Given the description of an element on the screen output the (x, y) to click on. 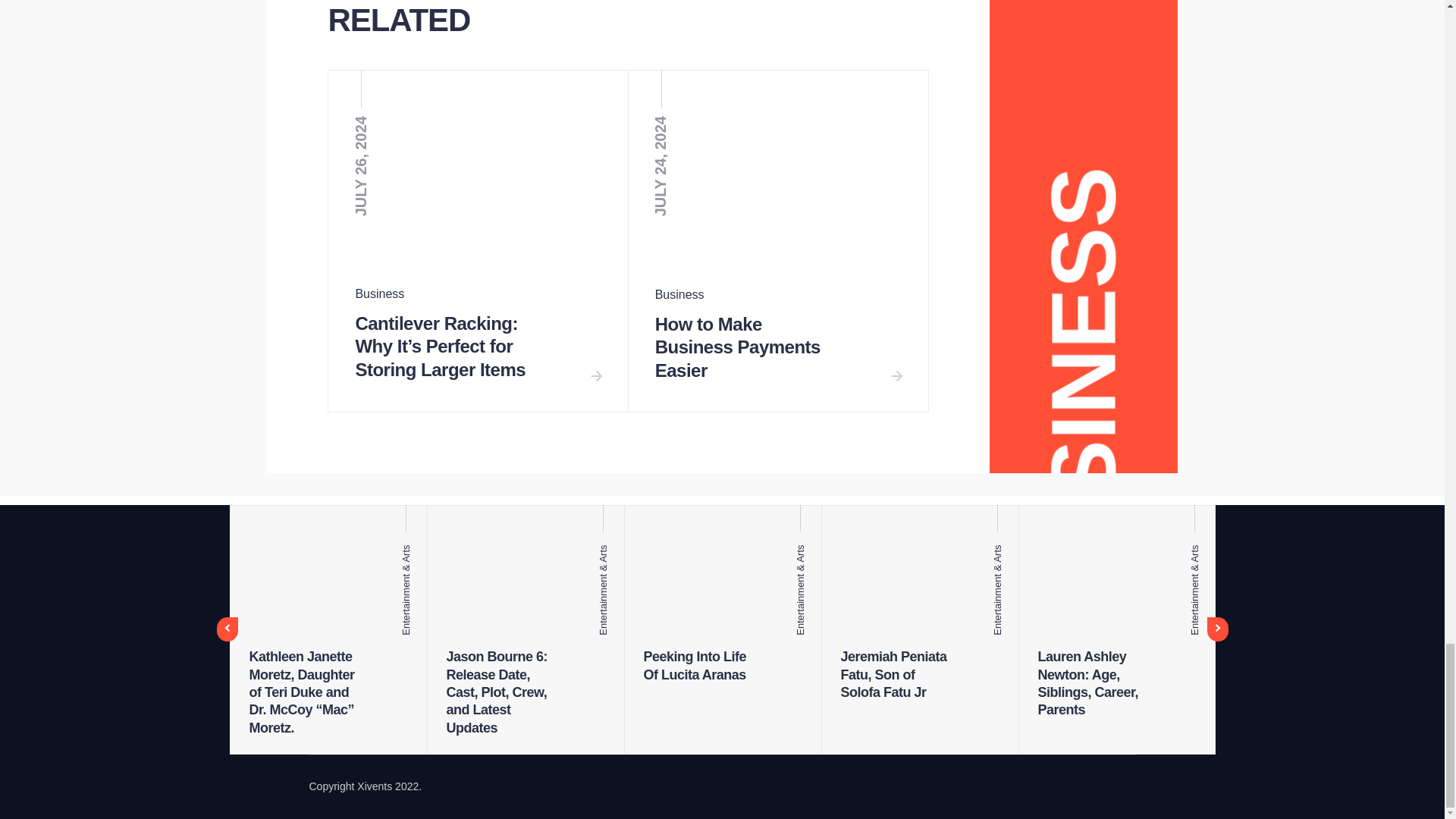
Business (379, 293)
